Given the description of an element on the screen output the (x, y) to click on. 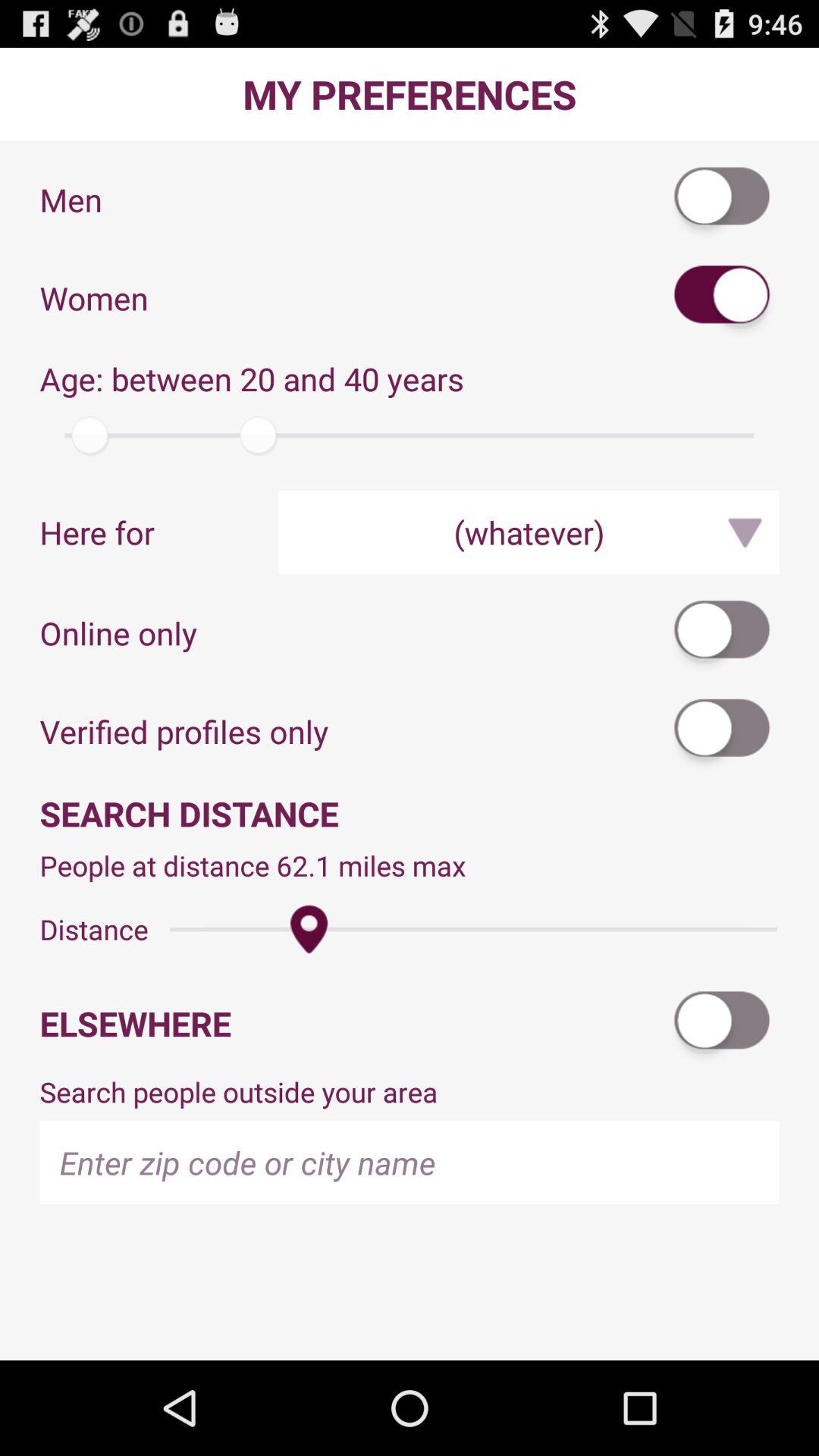
launch the app above verified profiles only icon (722, 632)
